Given the description of an element on the screen output the (x, y) to click on. 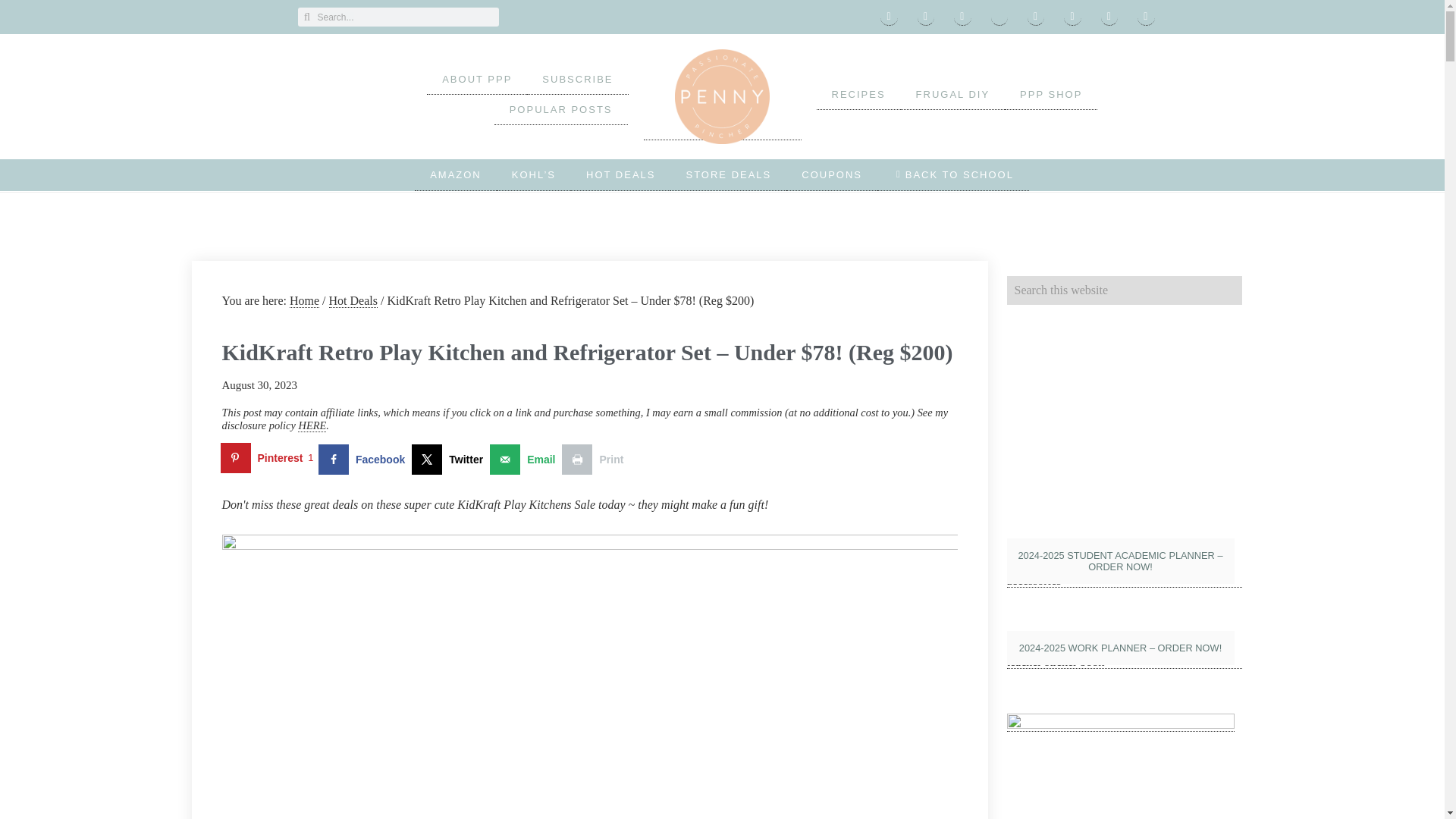
Save to Pinterest (269, 459)
ABOUT PPP (476, 79)
Send over email (525, 459)
SUBSCRIBE (577, 79)
POPULAR POSTS (561, 110)
PPP SHOP (1050, 94)
Print this webpage (596, 459)
RECIPES (857, 94)
Share on Facebook (365, 459)
FRUGAL DIY (953, 94)
Work Planner - Order Now! (1124, 651)
AMAZON (455, 174)
Share on X (450, 459)
